Given the description of an element on the screen output the (x, y) to click on. 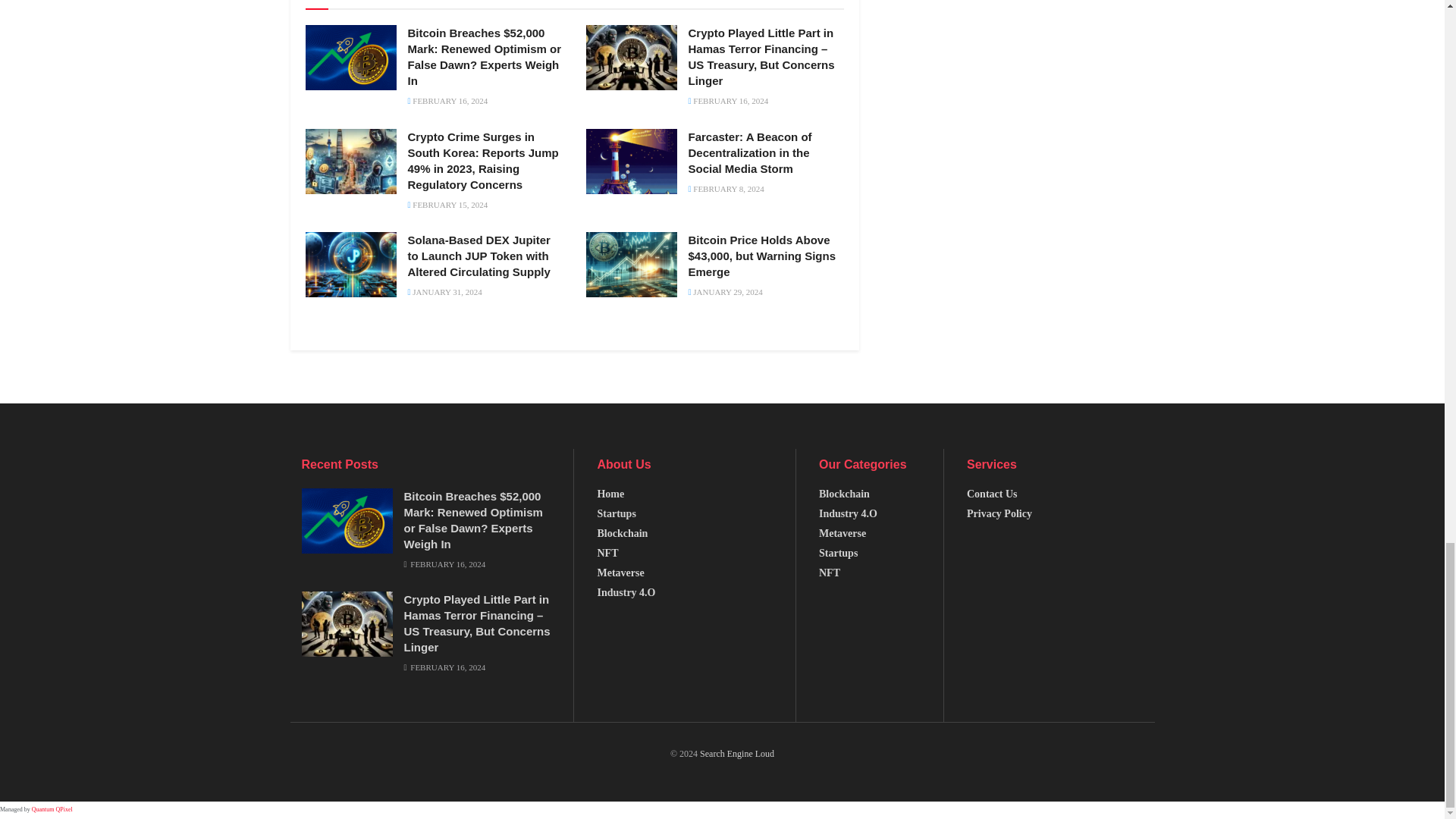
Search Engine Loud (737, 753)
